Given the description of an element on the screen output the (x, y) to click on. 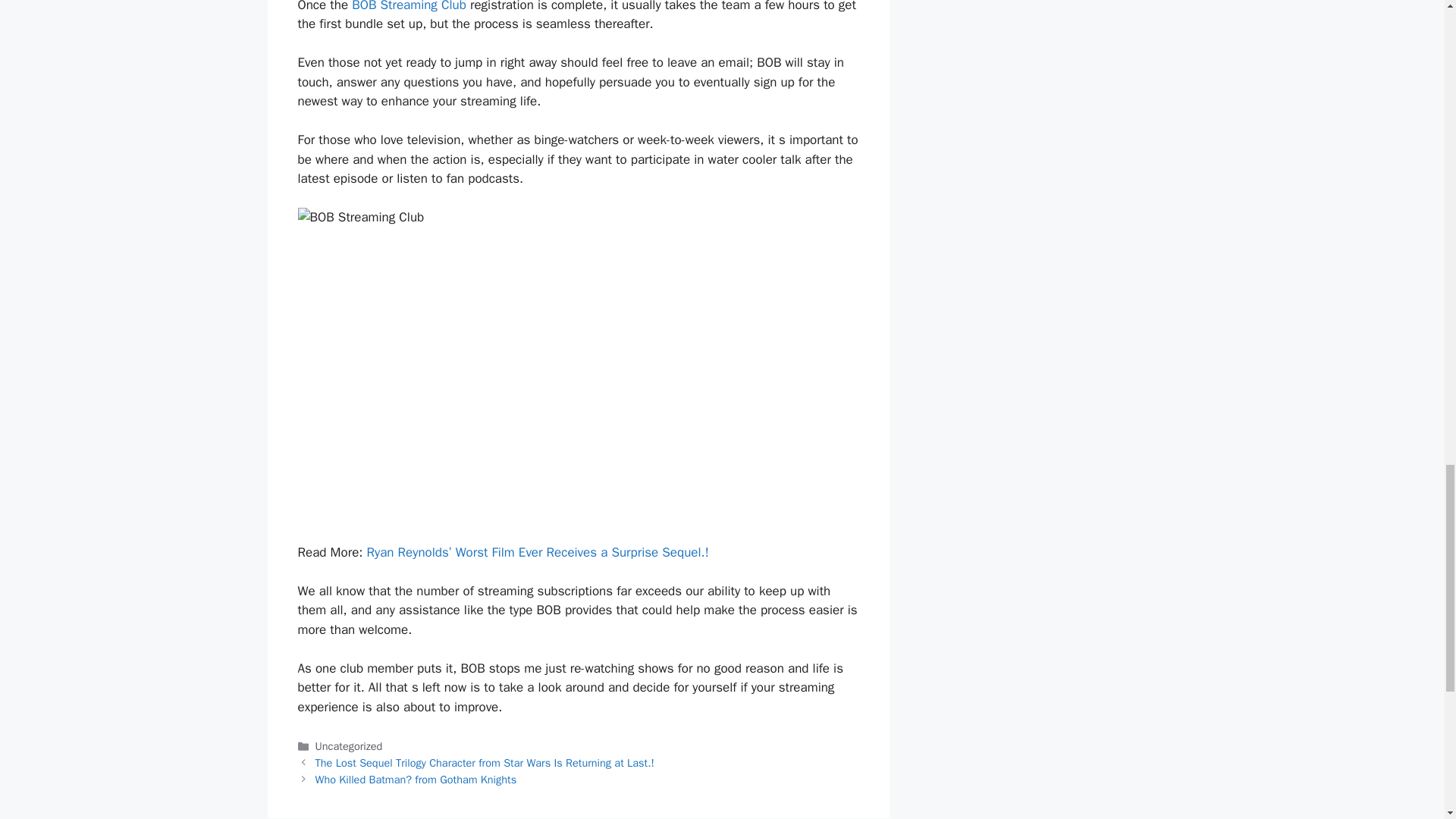
BOB Streaming Club (406, 6)
Who Killed Batman? from Gotham Knights (415, 779)
